Given the description of an element on the screen output the (x, y) to click on. 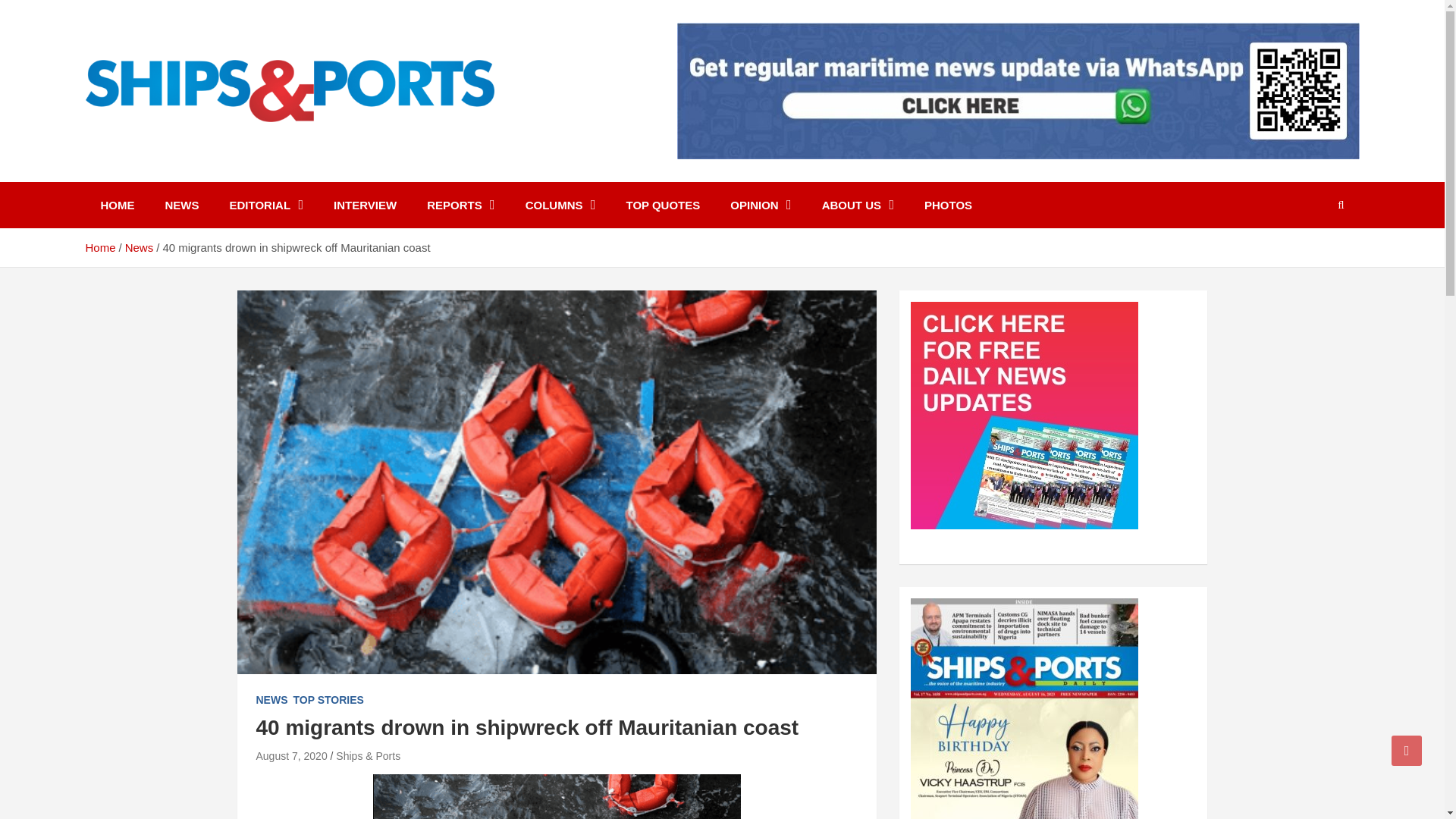
TOP QUOTES (662, 204)
HOME (116, 204)
REPORTS (461, 204)
INTERVIEW (365, 204)
OPINION (760, 204)
NEWS (272, 700)
40 migrants drown in shipwreck off Mauritanian coast (291, 756)
COLUMNS (561, 204)
ABOUT US (857, 204)
EDITORIAL (266, 204)
August 7, 2020 (291, 756)
PHOTOS (947, 204)
Go to Top (1406, 750)
News (139, 246)
Home (99, 246)
